Given the description of an element on the screen output the (x, y) to click on. 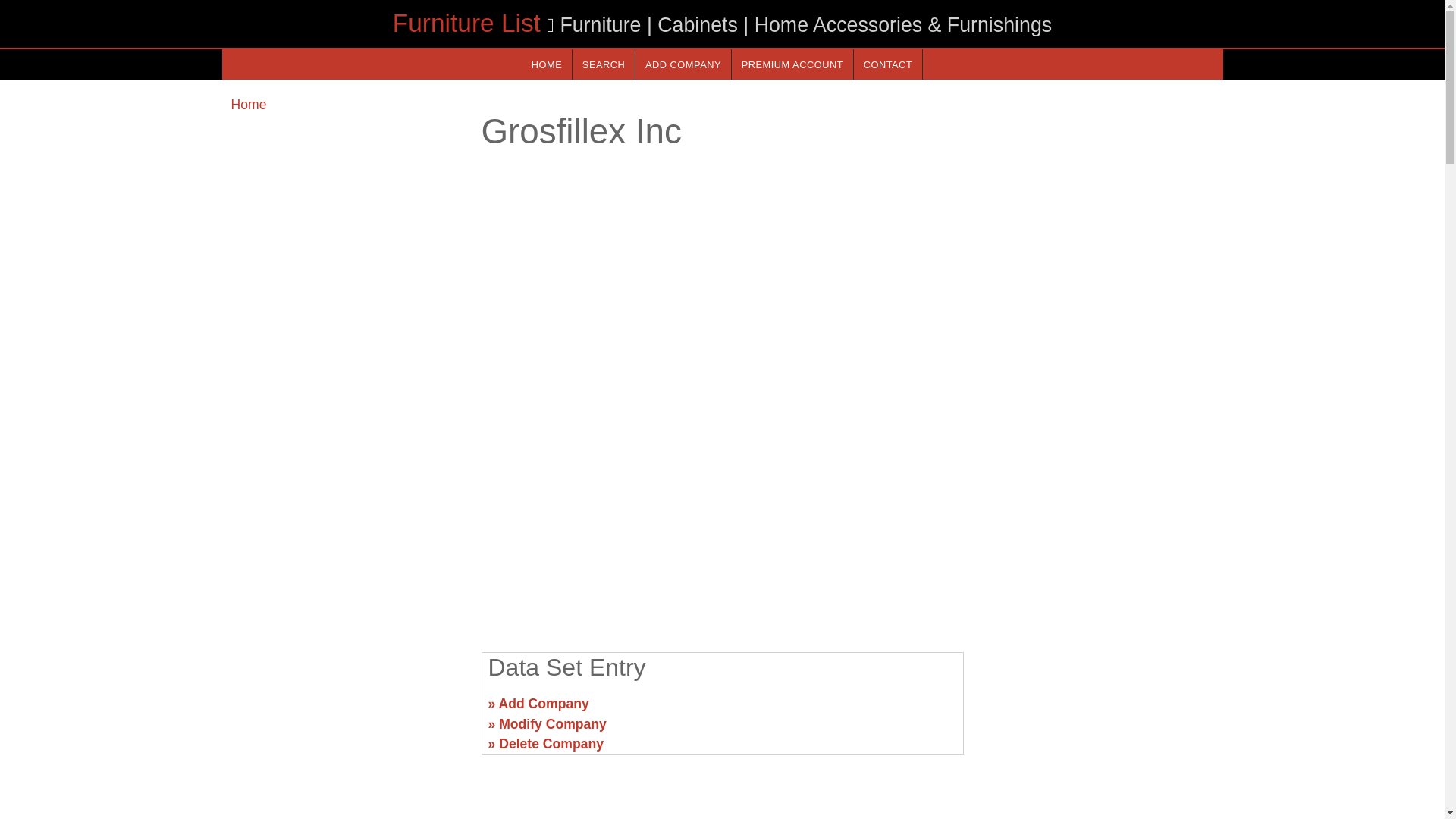
Advertisement (346, 710)
Advertisement (721, 522)
PREMIUM ACCOUNT (792, 64)
Add a new company (682, 64)
HOME (546, 64)
ADD COMPANY (682, 64)
Premium account (792, 64)
CONTACT (887, 64)
Home (248, 104)
Advertisement (1096, 710)
Furniture List (466, 22)
SEARCH (603, 64)
Search in this webseite. (603, 64)
